Given the description of an element on the screen output the (x, y) to click on. 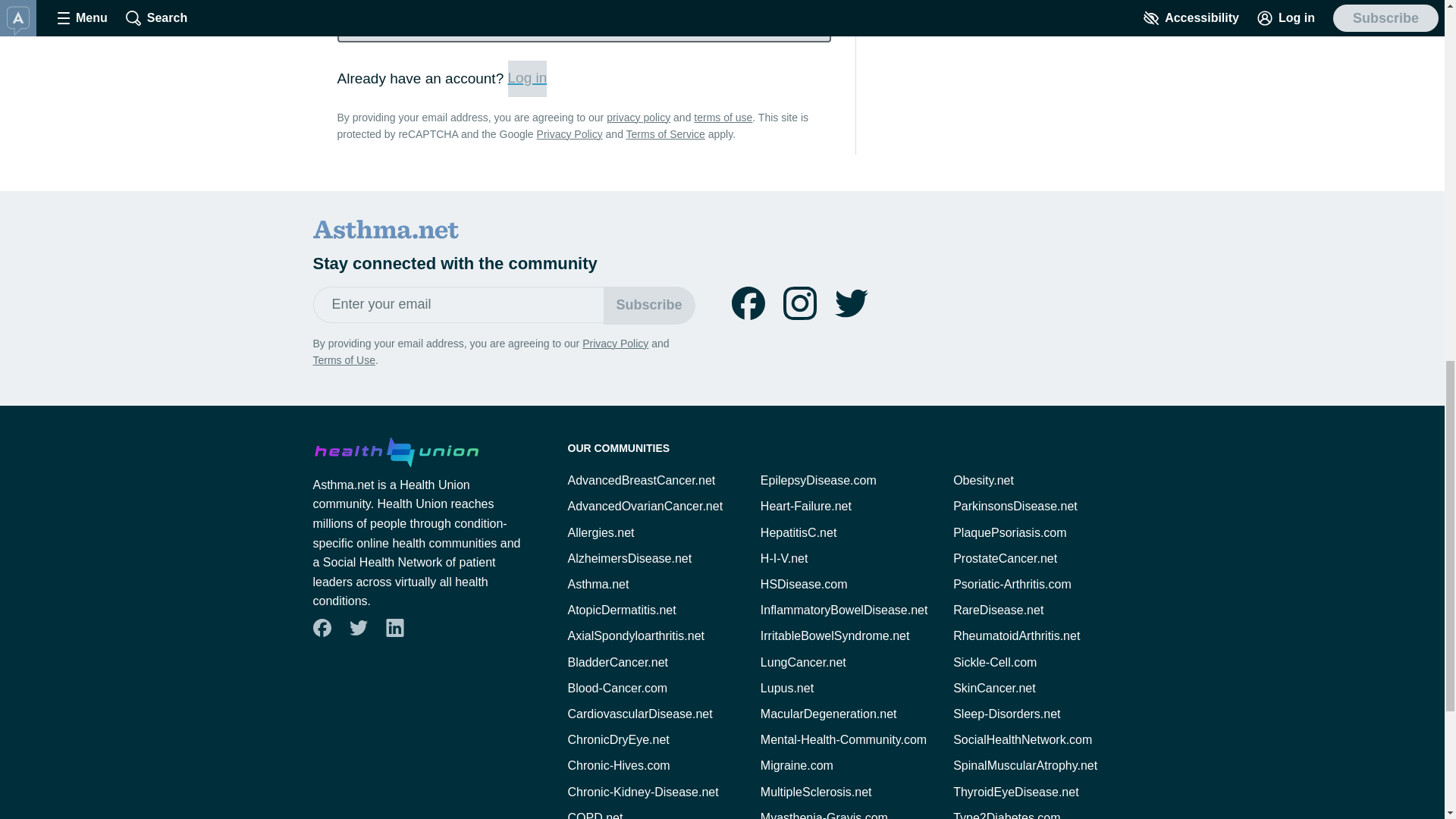
privacy policy (638, 117)
BladderCancer.net (617, 662)
Privacy Policy (614, 343)
Follow us on facebook (321, 628)
AtopicDermatitis.net (621, 609)
Allergies.net (600, 532)
terms of use (723, 117)
Follow us on twitter (357, 628)
Log in (527, 78)
AdvancedBreastCancer.net (640, 480)
